Given the description of an element on the screen output the (x, y) to click on. 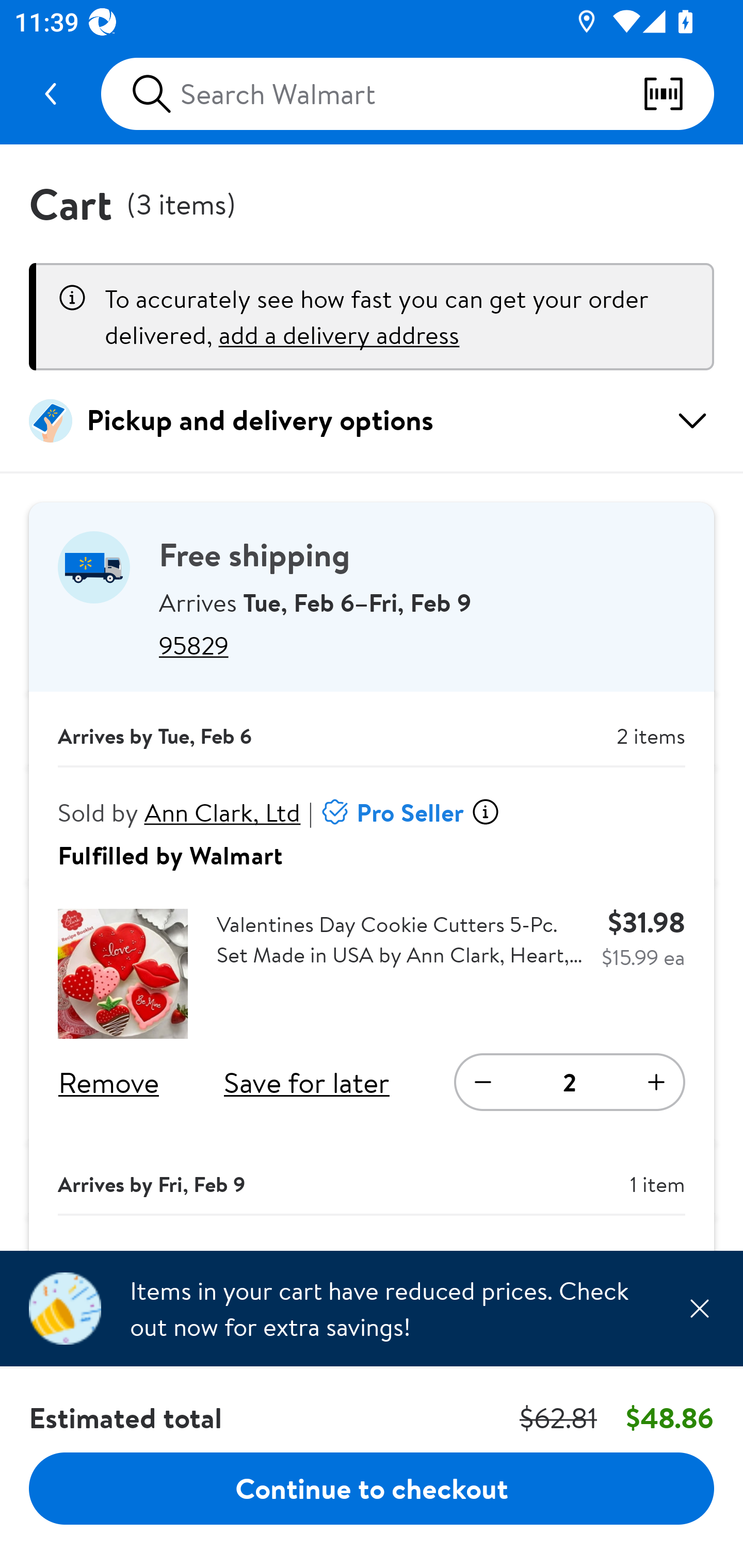
Navigate up (50, 93)
Search Walmart Opens barcode scanner (407, 94)
Opens barcode scanner (677, 94)
95829 (422, 645)
Sold by Ann Clark, Ltd (178, 811)
Info for Pro Seller (485, 812)
Item image (122, 973)
Close (699, 1308)
Continue to checkout (371, 1487)
